Given the description of an element on the screen output the (x, y) to click on. 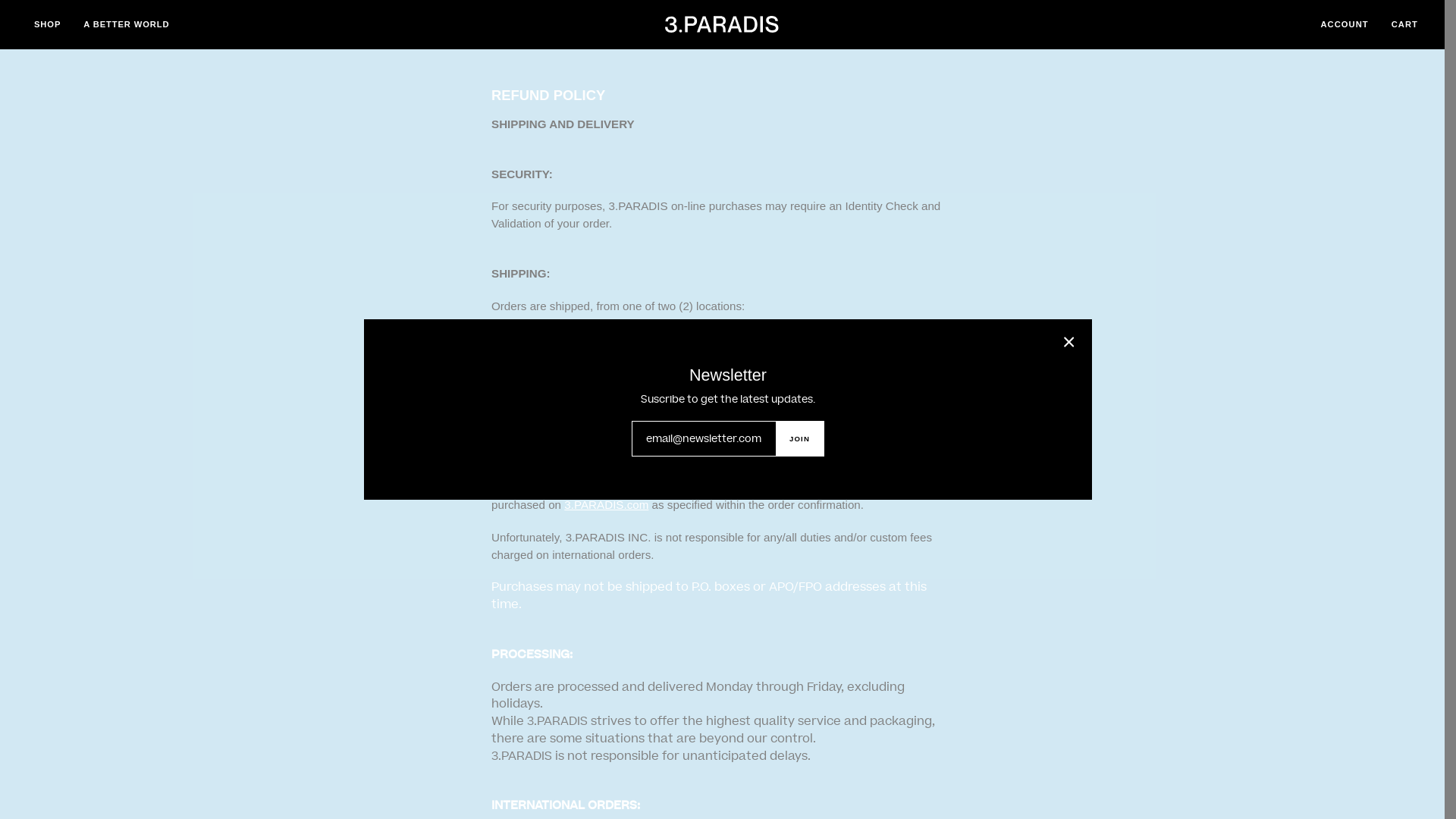
JOIN Element type: text (799, 438)
A BETTER WORLD Element type: text (126, 24)
3.PARADIS.com Element type: text (606, 504)
Close Element type: hover (1068, 341)
CART Element type: text (1404, 24)
ACCOUNT Element type: text (1343, 24)
SHOP Element type: text (47, 24)
